Given the description of an element on the screen output the (x, y) to click on. 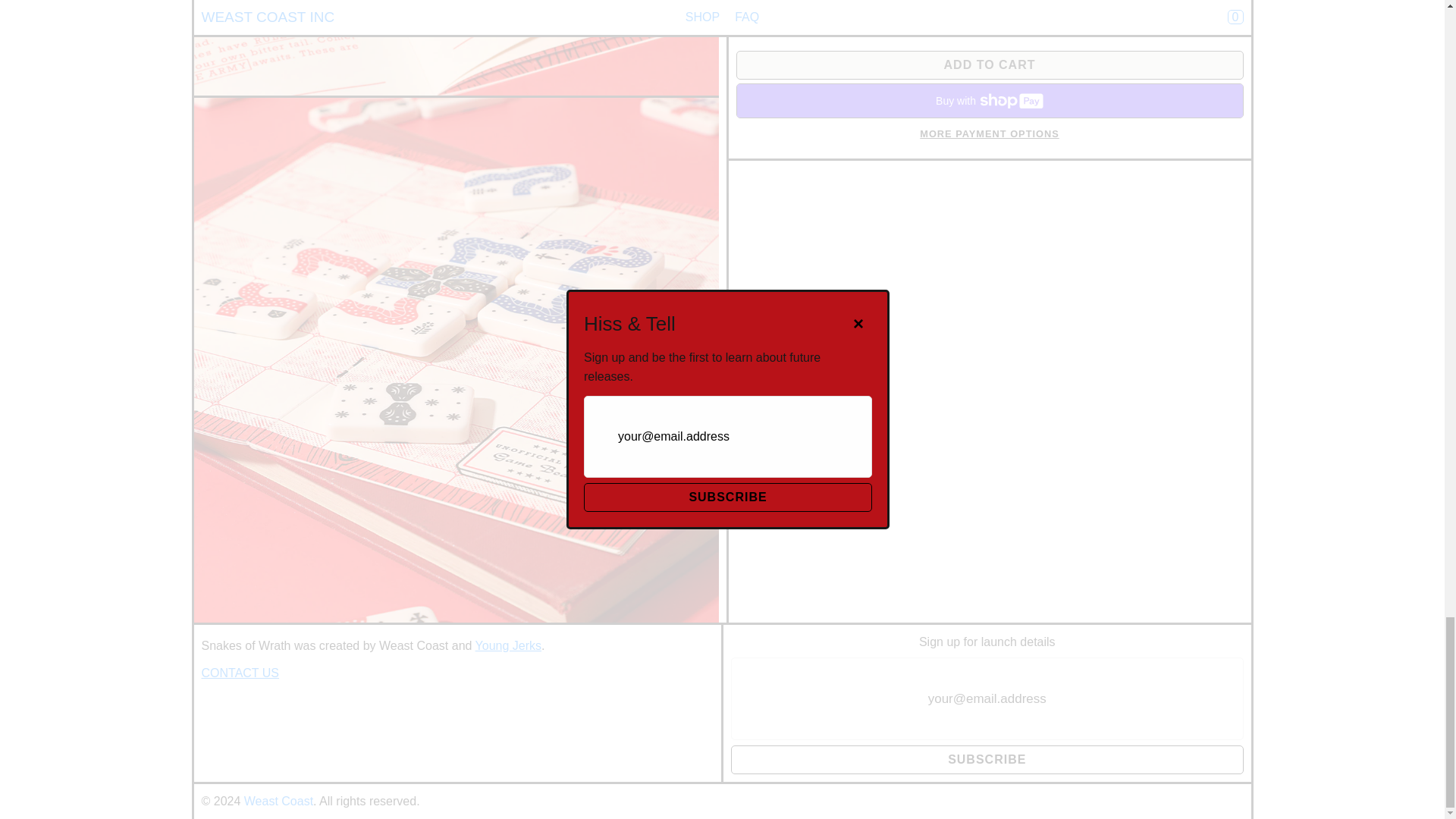
Weast Coast (278, 800)
CONTACT US (240, 673)
Young Jerks (508, 645)
SUBSCRIBE (986, 759)
